Given the description of an element on the screen output the (x, y) to click on. 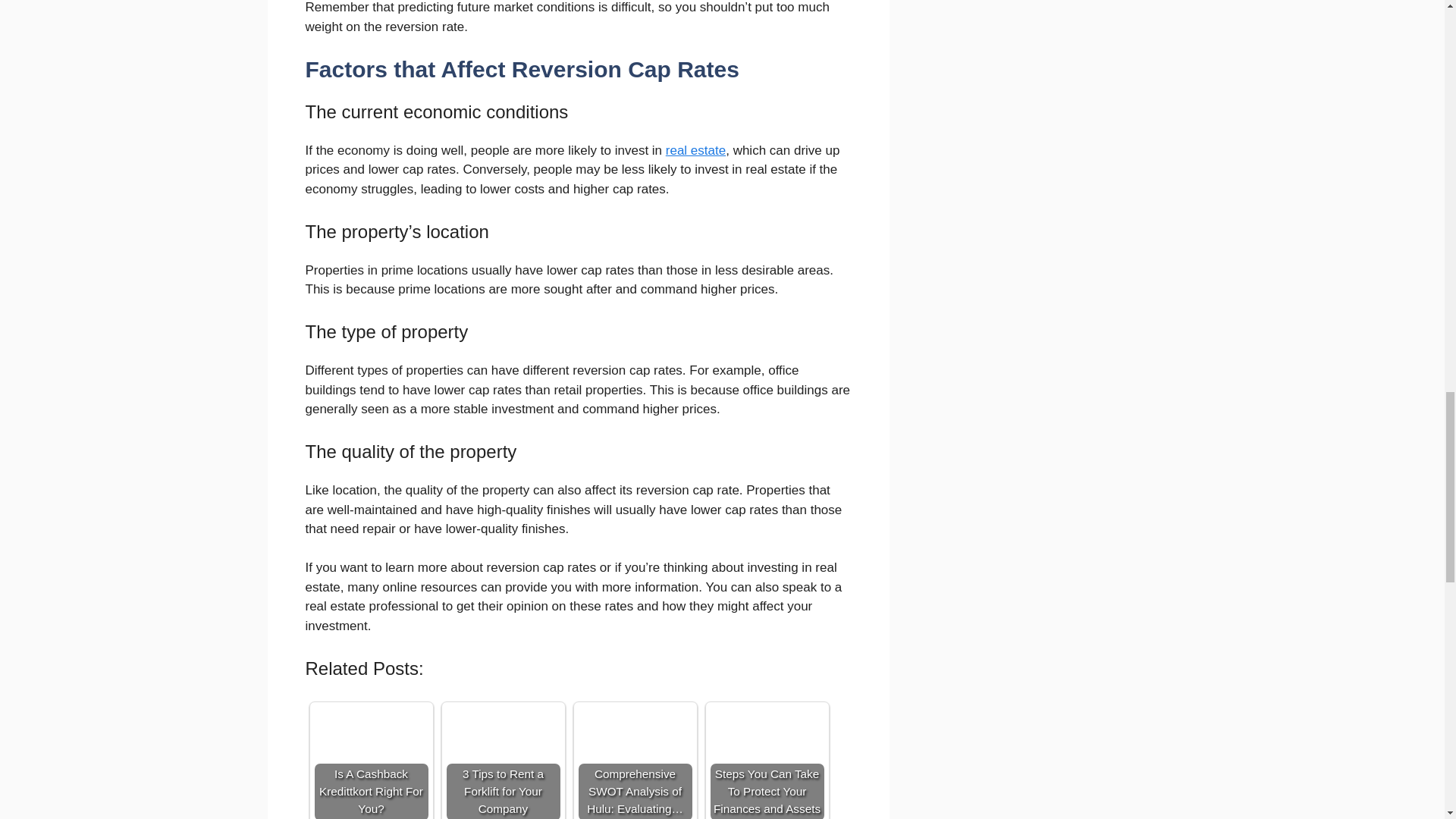
3 Tips to Rent a Forklift for Your Company (502, 762)
Steps You Can Take To Protect Your Finances and Assets (767, 762)
real estate (695, 150)
Is A Cashback Kredittkort Right For You? (371, 762)
